Given the description of an element on the screen output the (x, y) to click on. 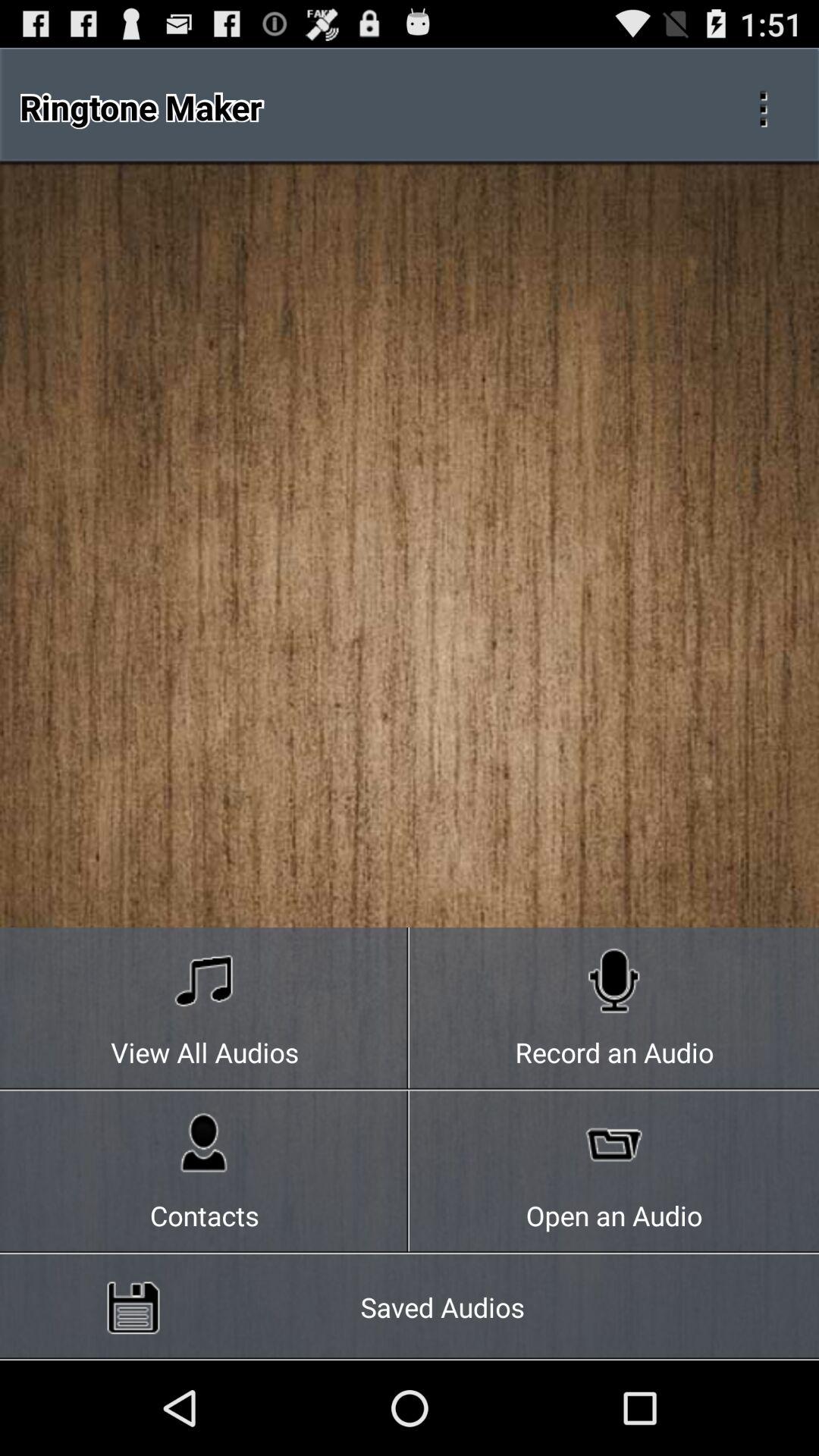
turn off icon above the record an audio (762, 107)
